Given the description of an element on the screen output the (x, y) to click on. 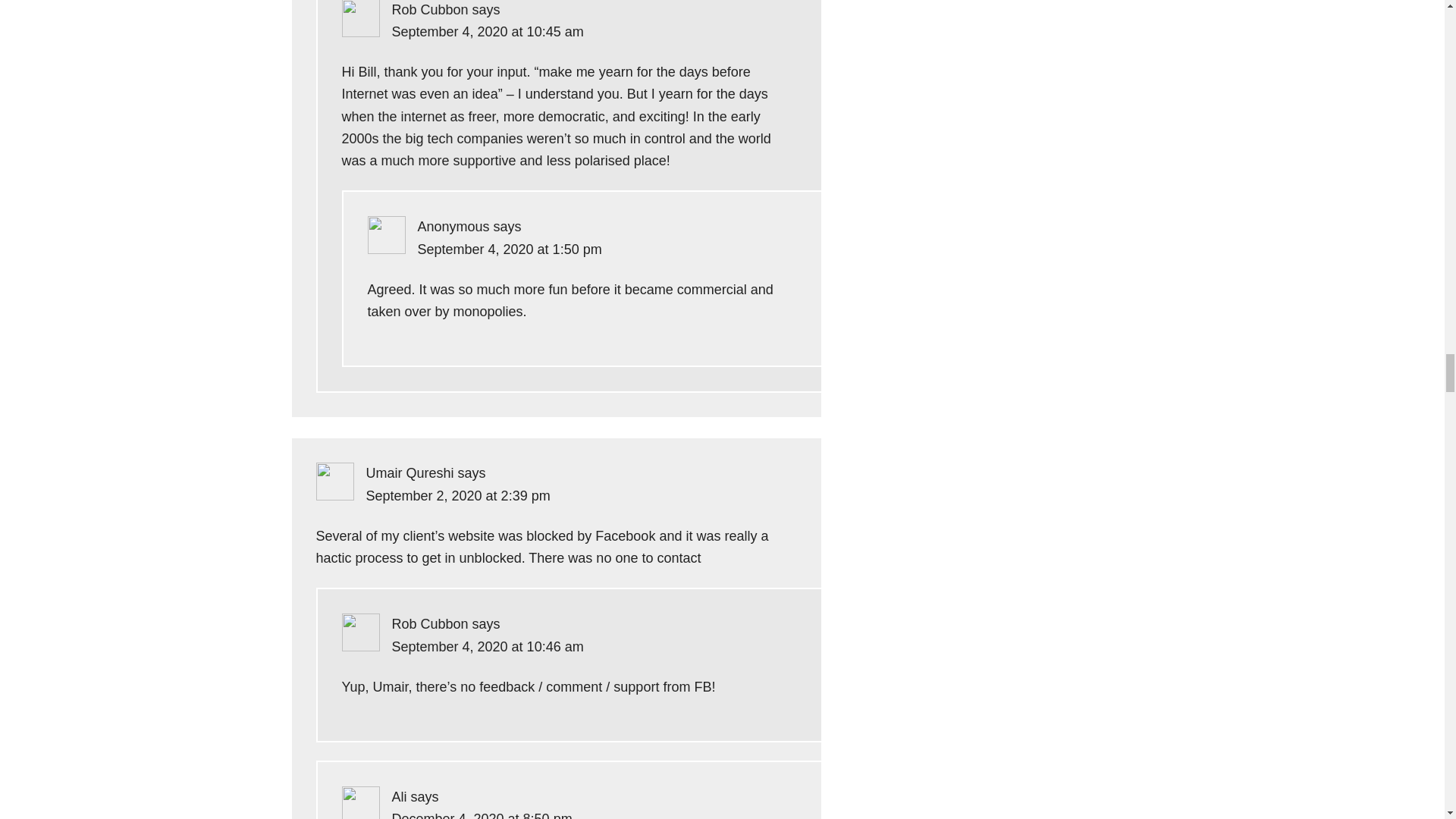
September 4, 2020 at 10:45 am (487, 31)
Rob Cubbon (429, 9)
September 4, 2020 at 1:50 pm (508, 249)
